Given the description of an element on the screen output the (x, y) to click on. 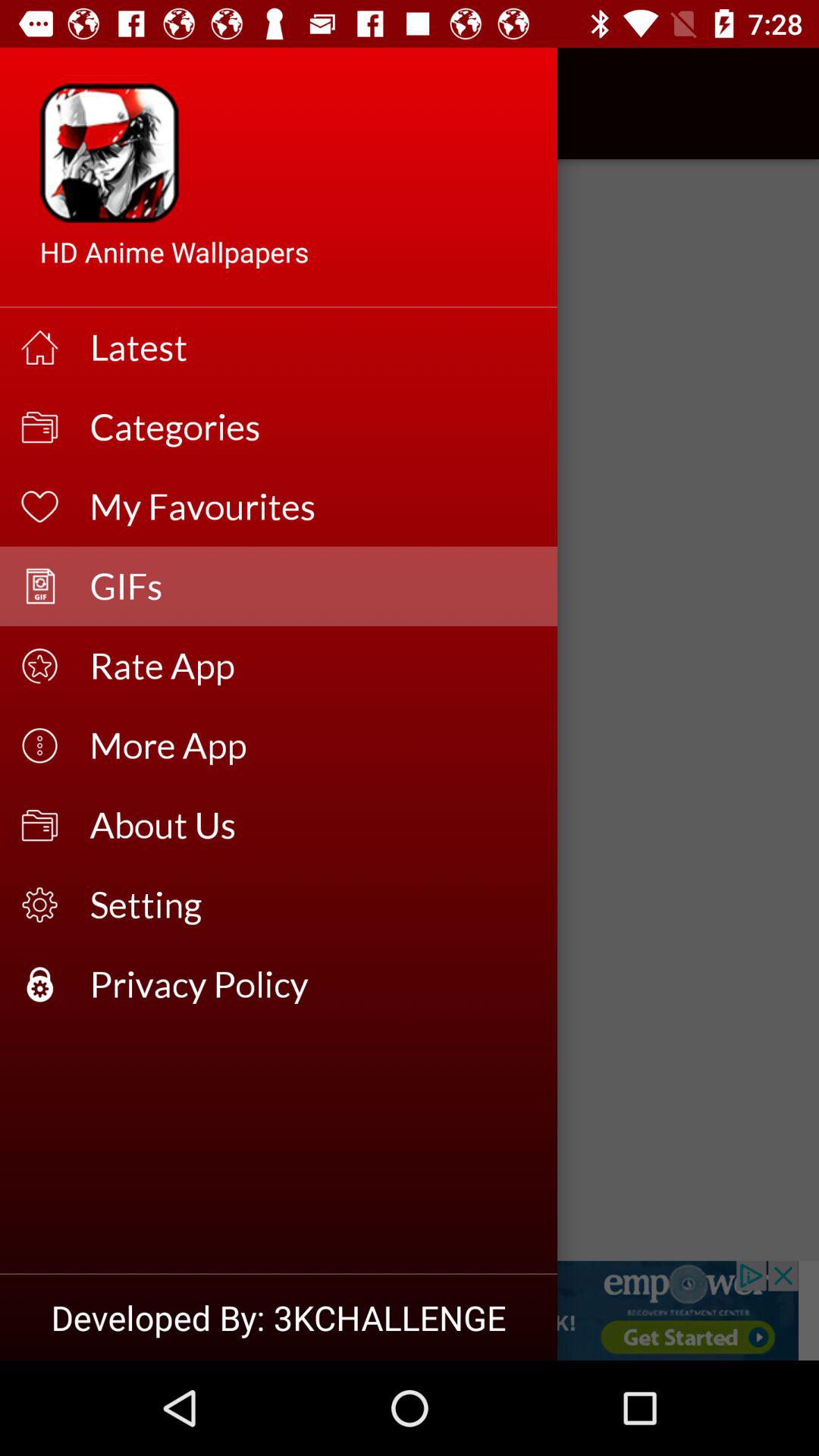
press the icon above the setting item (313, 825)
